Given the description of an element on the screen output the (x, y) to click on. 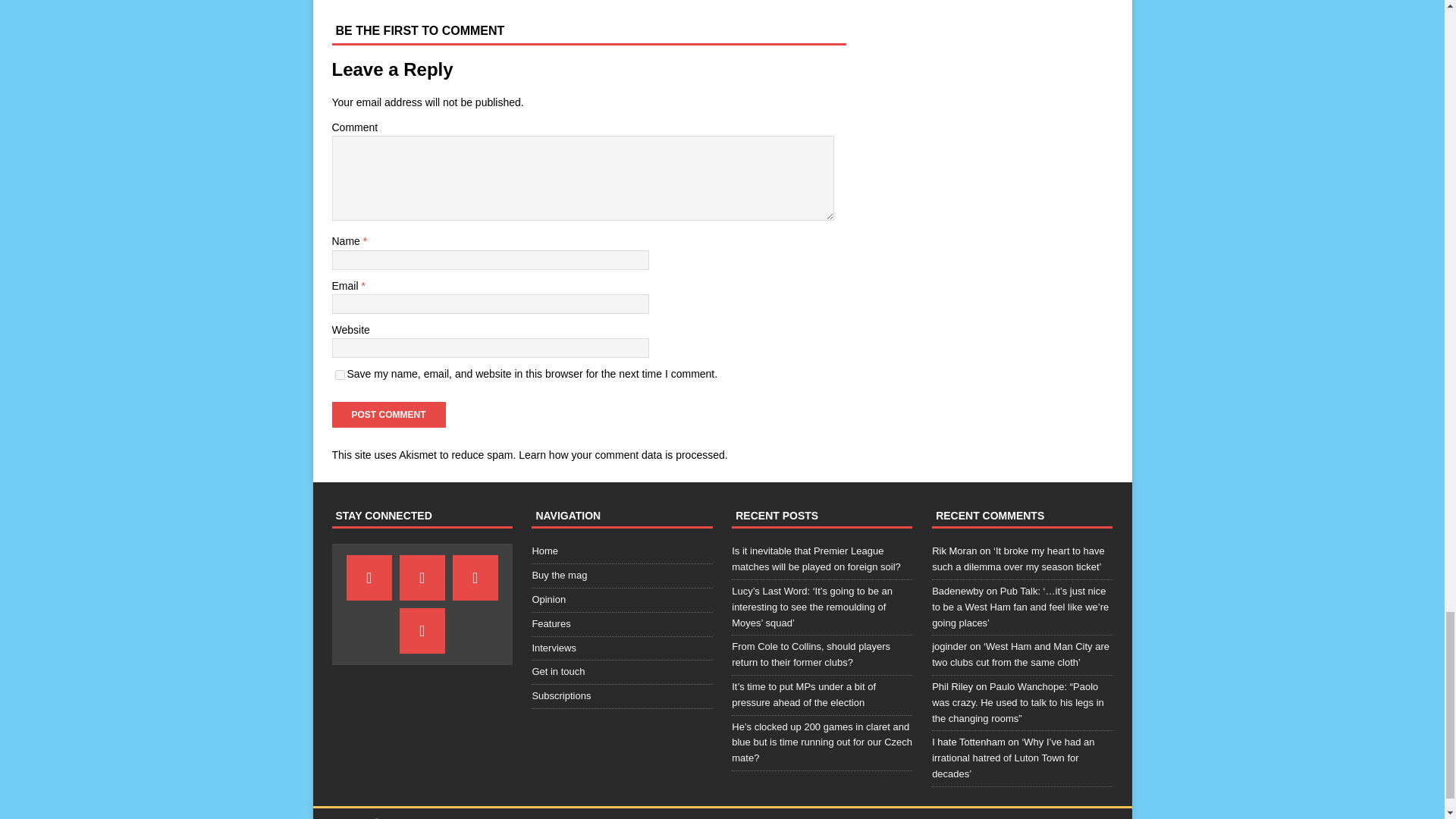
Post Comment (388, 414)
yes (339, 375)
